Given the description of an element on the screen output the (x, y) to click on. 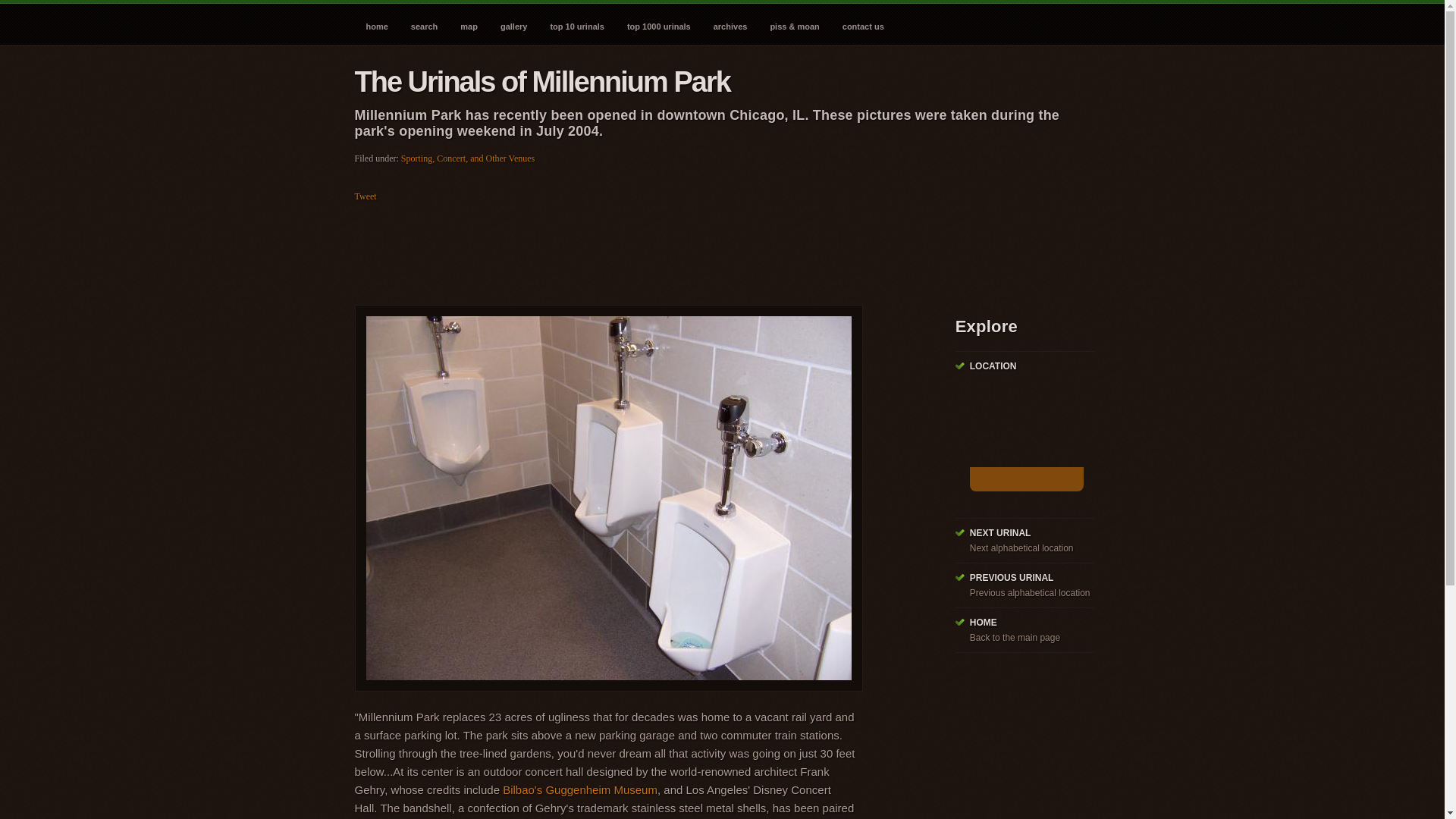
Sporting, Concert, and Other Venues (467, 158)
HOME (983, 622)
gallery (513, 22)
archives (729, 22)
Click for map (1026, 478)
Bilbao's Guggenheim Museum (580, 789)
Tweet (366, 195)
home (376, 22)
map (468, 22)
NEXT URINAL (999, 532)
